Given the description of an element on the screen output the (x, y) to click on. 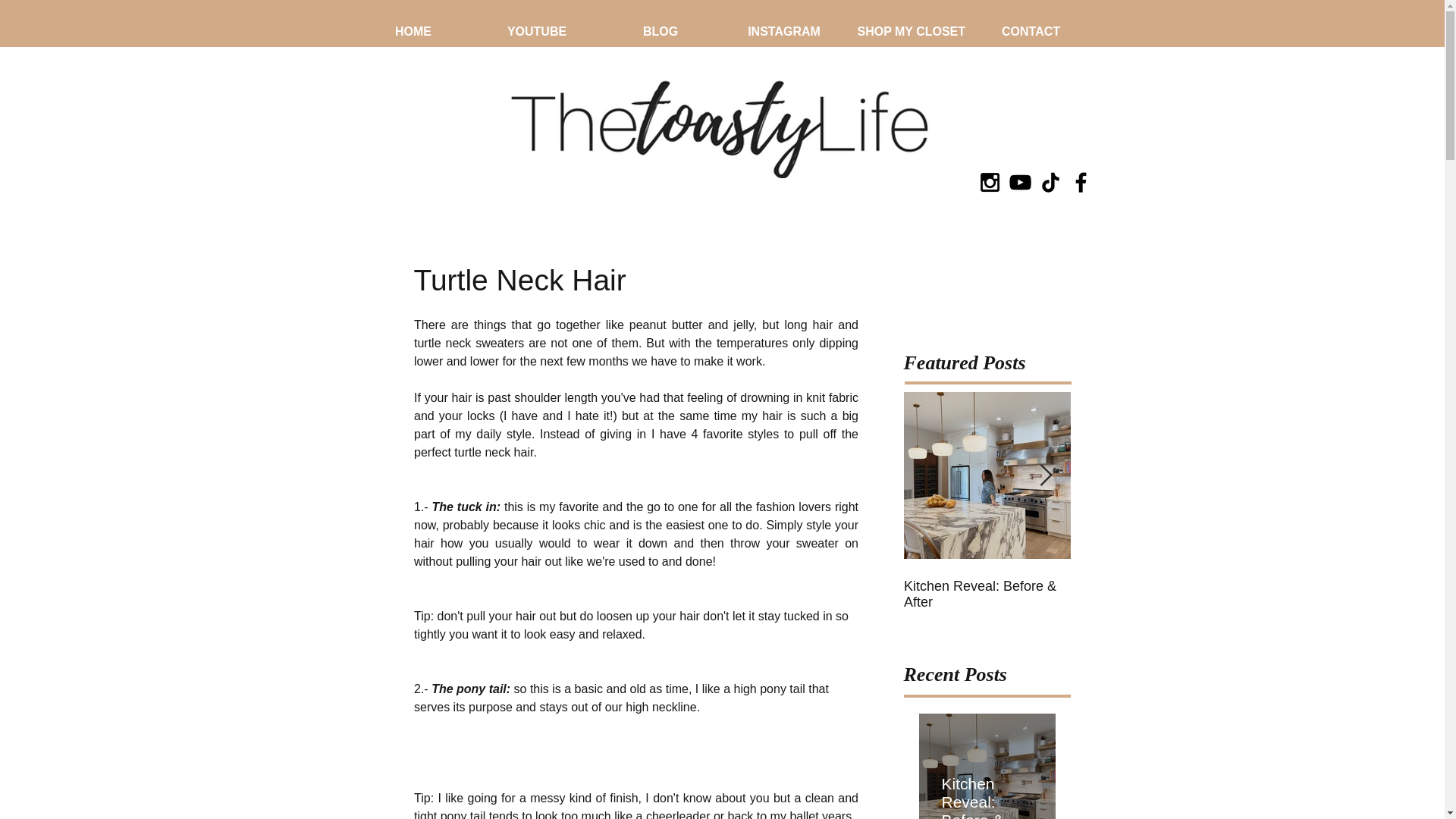
Bhaaloo The Newf Takes Over ... For Milk-Bone (1153, 594)
INSTAGRAM (783, 31)
YOUTUBE (536, 31)
HOME (414, 31)
BLOG (660, 31)
CONTACT (1030, 31)
SHOP MY CLOSET (907, 31)
